Given the description of an element on the screen output the (x, y) to click on. 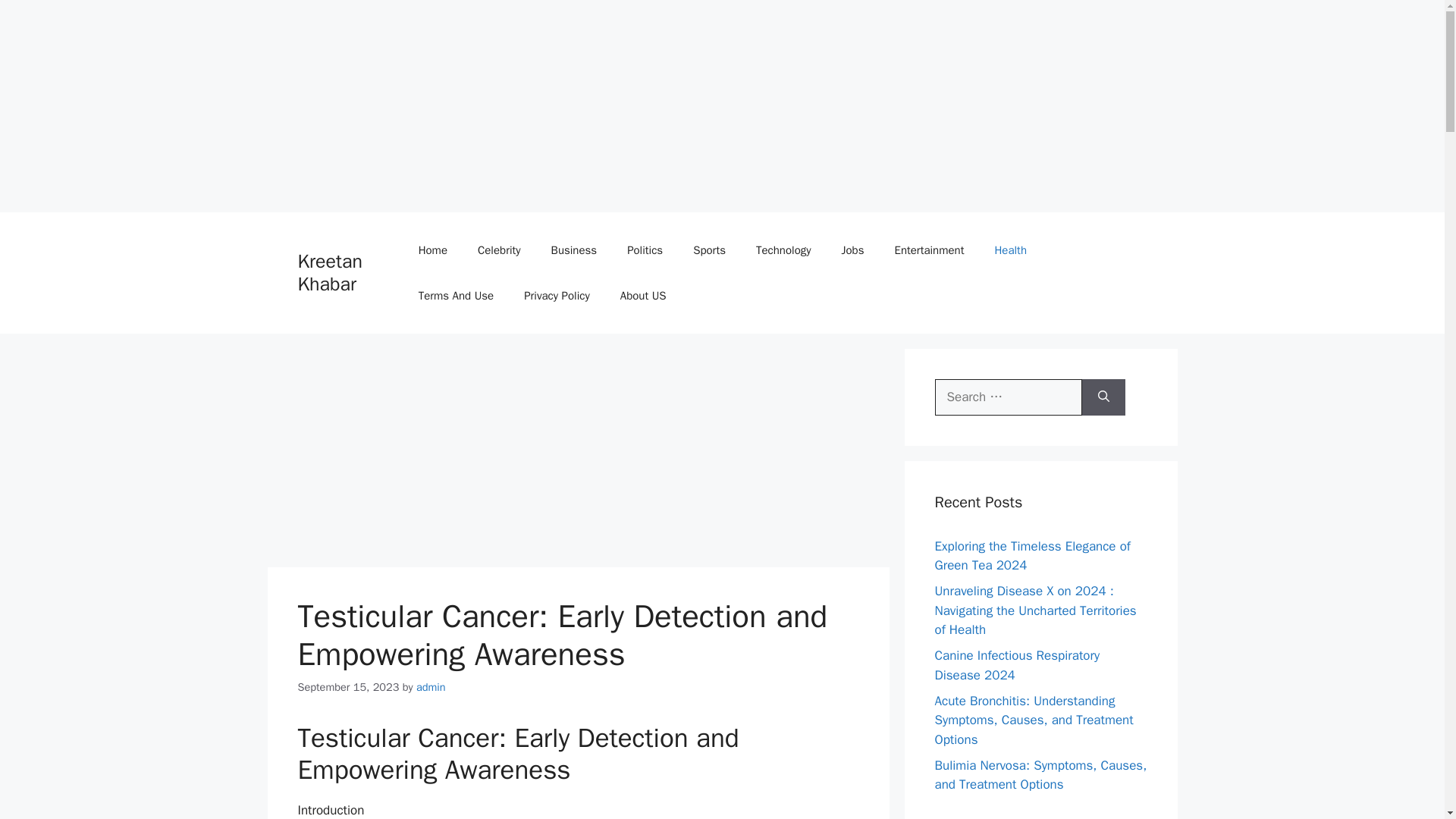
Advertisement (577, 454)
Sports (709, 249)
Entertainment (928, 249)
Bulimia Nervosa: Symptoms, Causes, and Treatment Options (1040, 774)
Politics (644, 249)
Business (573, 249)
Kreetan Khabar (329, 272)
Canine Infectious Respiratory Disease 2024 (1016, 665)
Celebrity (499, 249)
Terms And Use (456, 295)
Technology (784, 249)
